Given the description of an element on the screen output the (x, y) to click on. 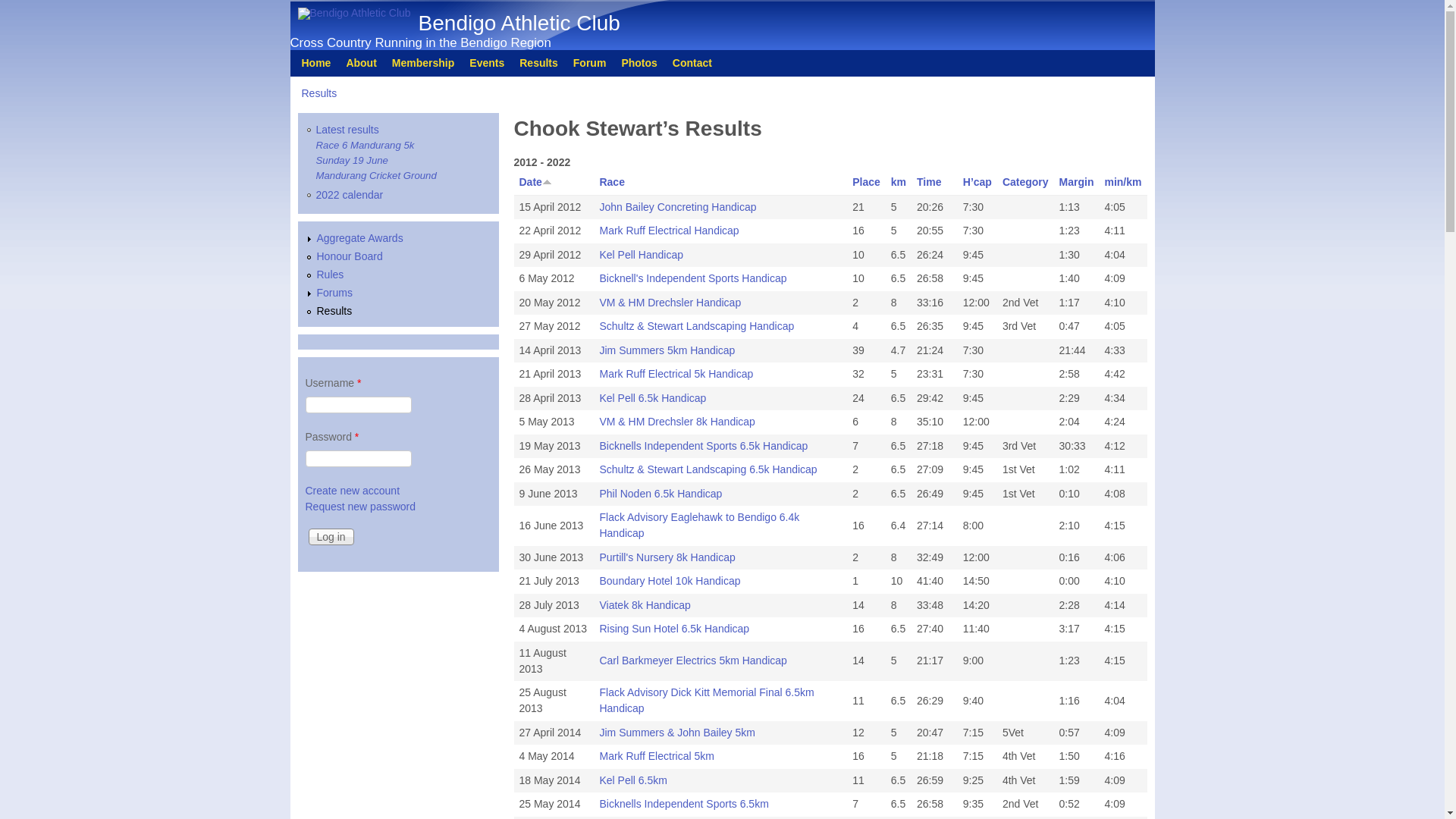
Rising Sun Hotel 6.5k Handicap Element type: text (674, 628)
Flack Advisory Dick Kitt Memorial Final 6.5km Handicap Element type: text (706, 700)
VM & HM Drechsler Handicap Element type: text (669, 302)
sort descending Element type: hover (547, 180)
min/km Element type: text (1122, 181)
Mark Ruff Electrical 5km Element type: text (656, 755)
Kel Pell 6.5km Element type: text (632, 780)
Events Element type: text (486, 62)
Mark Ruff Electrical Handicap Element type: text (668, 230)
Log in Element type: text (330, 536)
Viatek 8k Handicap Element type: text (644, 605)
Mark Ruff Electrical 5k Handicap Element type: text (676, 373)
Schultz & Stewart Landscaping Handicap Element type: text (696, 326)
Purtill's Nursery 8k Handicap Element type: text (666, 557)
Carl Barkmeyer Electrics 5km Handicap Element type: text (692, 660)
Membership Element type: text (422, 62)
Forums Element type: text (334, 292)
Rules Element type: text (330, 274)
Results Element type: text (538, 62)
Contact Element type: text (692, 62)
Race Element type: text (611, 181)
Flack Advisory Eaglehawk to Bendigo 6.4k Handicap Element type: text (699, 525)
Create new account Element type: text (351, 490)
Boundary Hotel 10k Handicap Element type: text (669, 580)
Honour Board Element type: text (349, 256)
Results Element type: text (334, 310)
Jim Summers 5km Handicap Element type: text (666, 350)
Bicknells Independent Sports 6.5k Handicap Element type: text (703, 445)
Aggregate Awards Element type: text (359, 238)
Time Element type: text (928, 181)
Bicknells Independent Sports 6.5km Element type: text (683, 803)
2022 calendar Element type: text (348, 195)
Home Element type: text (316, 62)
VM & HM Drechsler 8k Handicap Element type: text (676, 421)
Schultz & Stewart Landscaping 6.5k Handicap Element type: text (707, 469)
Bicknell's Independent Sports Handicap Element type: text (692, 278)
Jim Summers & John Bailey 5km Element type: text (676, 732)
Margin Element type: text (1076, 181)
Category Element type: text (1025, 181)
John Bailey Concreting Handicap Element type: text (677, 206)
km Element type: text (898, 181)
Date Element type: text (534, 181)
Phil Noden 6.5k Handicap Element type: text (660, 493)
About Element type: text (360, 62)
Kel Pell Handicap Element type: text (641, 254)
Kel Pell 6.5k Handicap Element type: text (652, 398)
Bendigo Athletic Club Element type: text (519, 22)
Results Element type: text (319, 93)
Forum Element type: text (589, 62)
Place Element type: text (866, 181)
Request new password Element type: text (359, 506)
Skip to main content Element type: text (706, 0)
Photos Element type: text (638, 62)
